Given the description of an element on the screen output the (x, y) to click on. 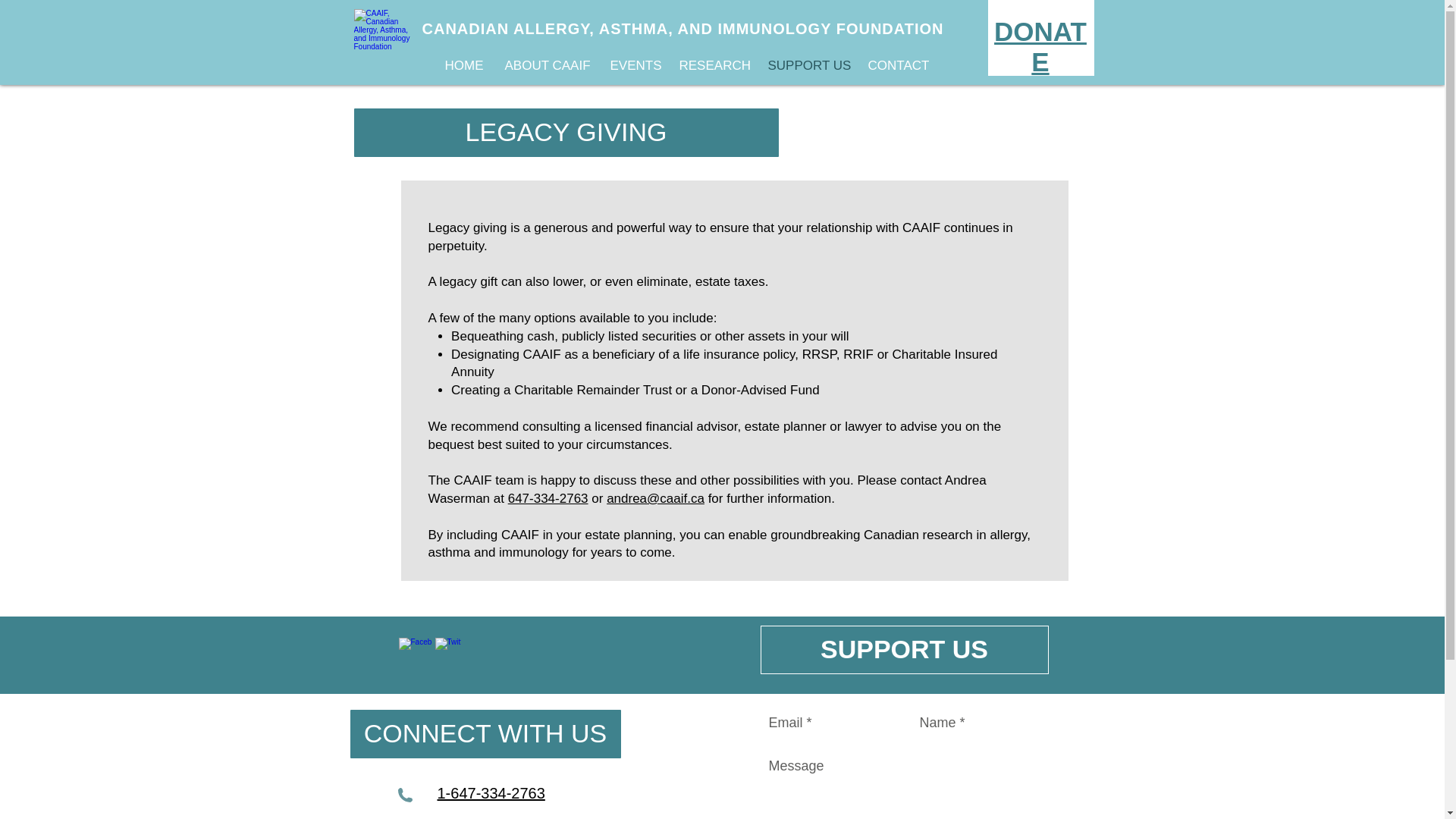
647-334-2763 (548, 498)
RESEARCH (710, 65)
ABOUT CAAIF (545, 65)
HOME (463, 65)
DONATE (1040, 46)
SUPPORT US (807, 65)
EVENTS (633, 65)
SUPPORT US (904, 649)
CONNECT WITH US (485, 734)
CANADIAN ALLERGY, ASTHMA, AND IMMUNOLOGY FOUNDATION (682, 28)
